Given the description of an element on the screen output the (x, y) to click on. 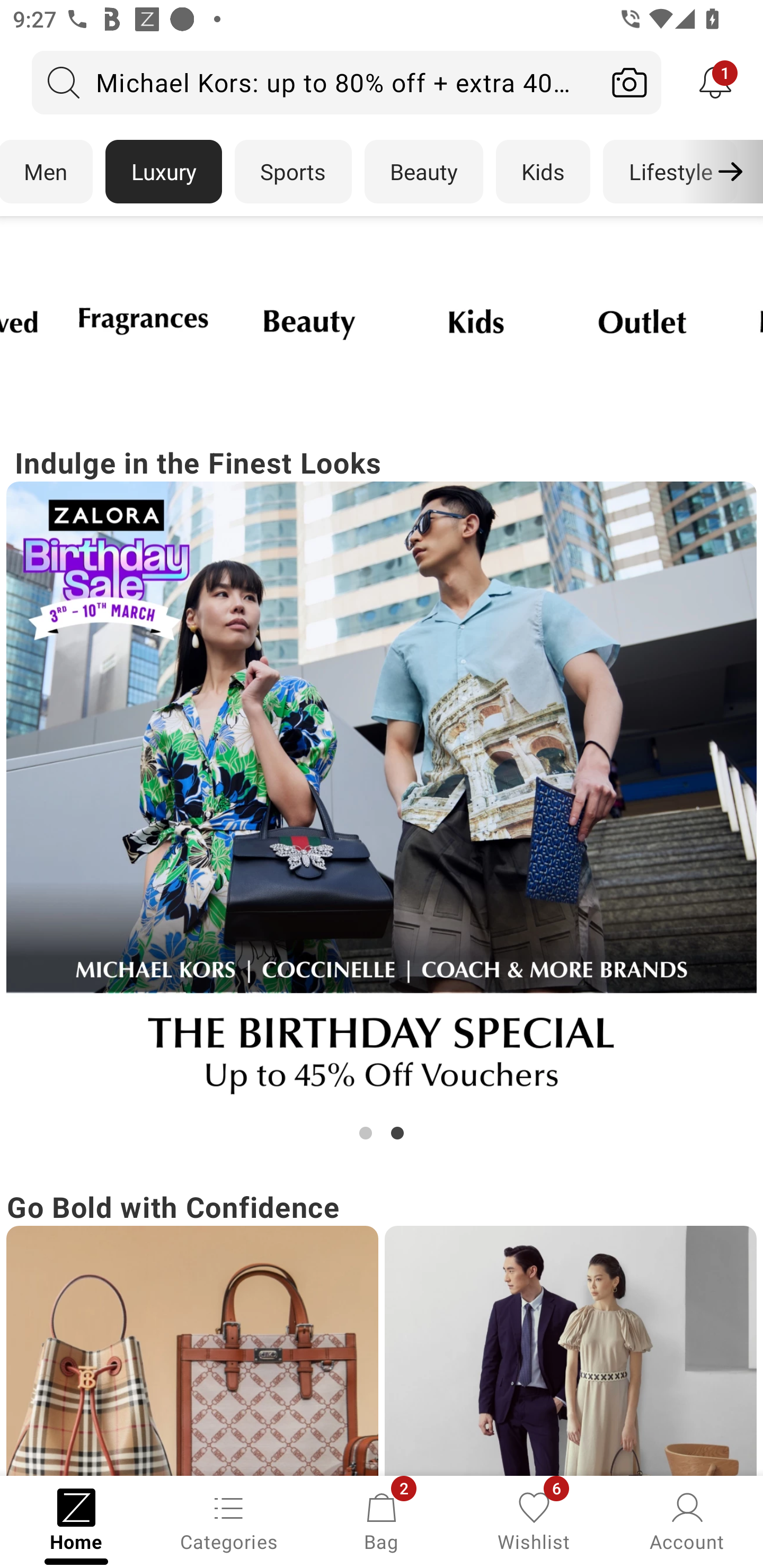
Michael Kors: up to 80% off + extra 40% off (314, 82)
Men (46, 171)
Luxury (163, 171)
Sports (293, 171)
Beauty (423, 171)
Kids (542, 171)
Lifestyle (669, 171)
Campaign banner (143, 321)
Campaign banner (309, 321)
Campaign banner (476, 321)
Campaign banner (642, 321)
 Indulge in the Finest Looks Campaign banner (381, 792)
Campaign banner (381, 797)
Campaign banner (192, 1350)
Campaign banner (570, 1350)
Categories (228, 1519)
Bag, 2 new notifications Bag (381, 1519)
Wishlist, 6 new notifications Wishlist (533, 1519)
Account (686, 1519)
